Given the description of an element on the screen output the (x, y) to click on. 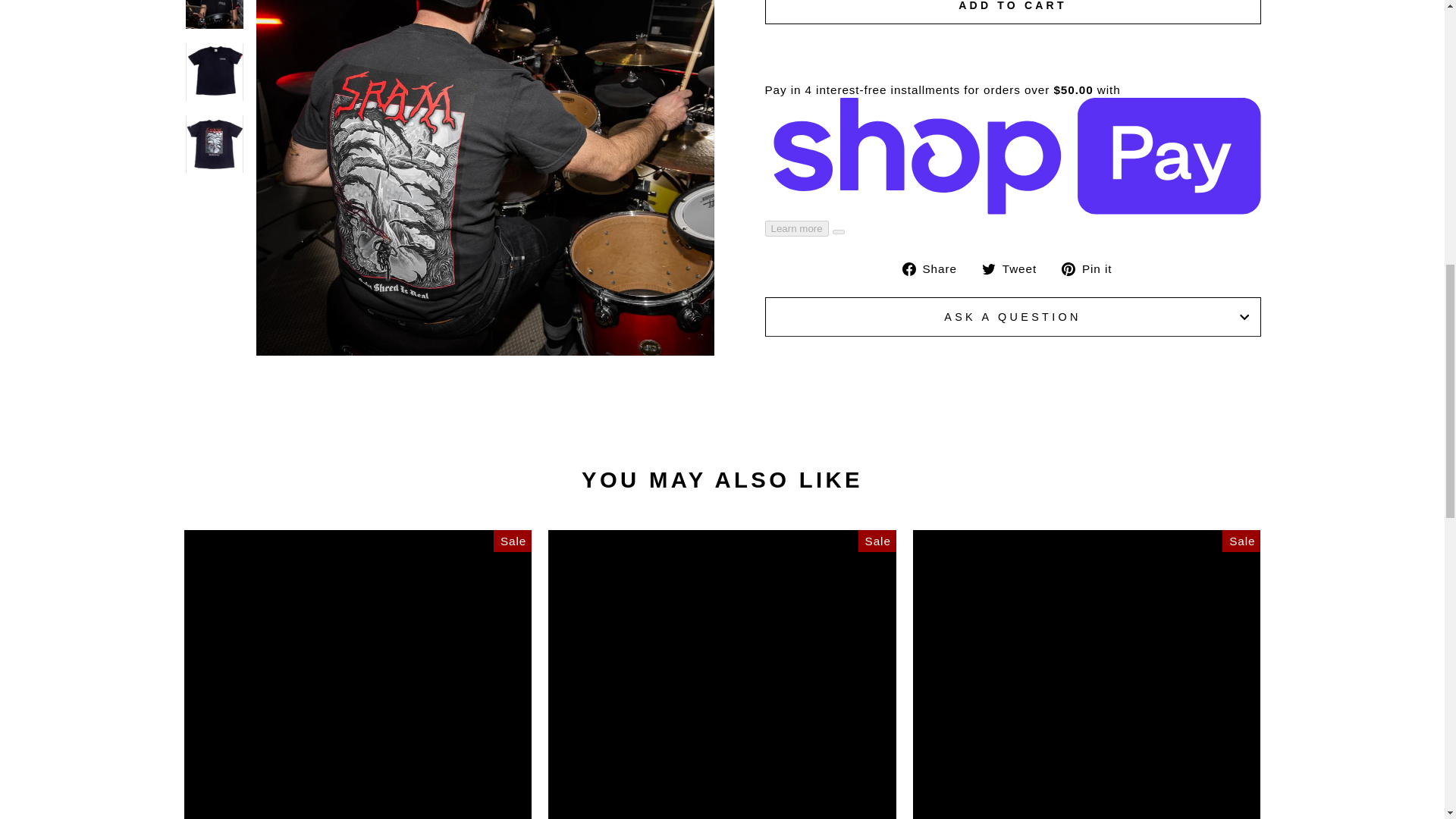
Pin on Pinterest (1091, 268)
Tweet on Twitter (1014, 268)
Share on Facebook (935, 268)
twitter (988, 269)
